Given the description of an element on the screen output the (x, y) to click on. 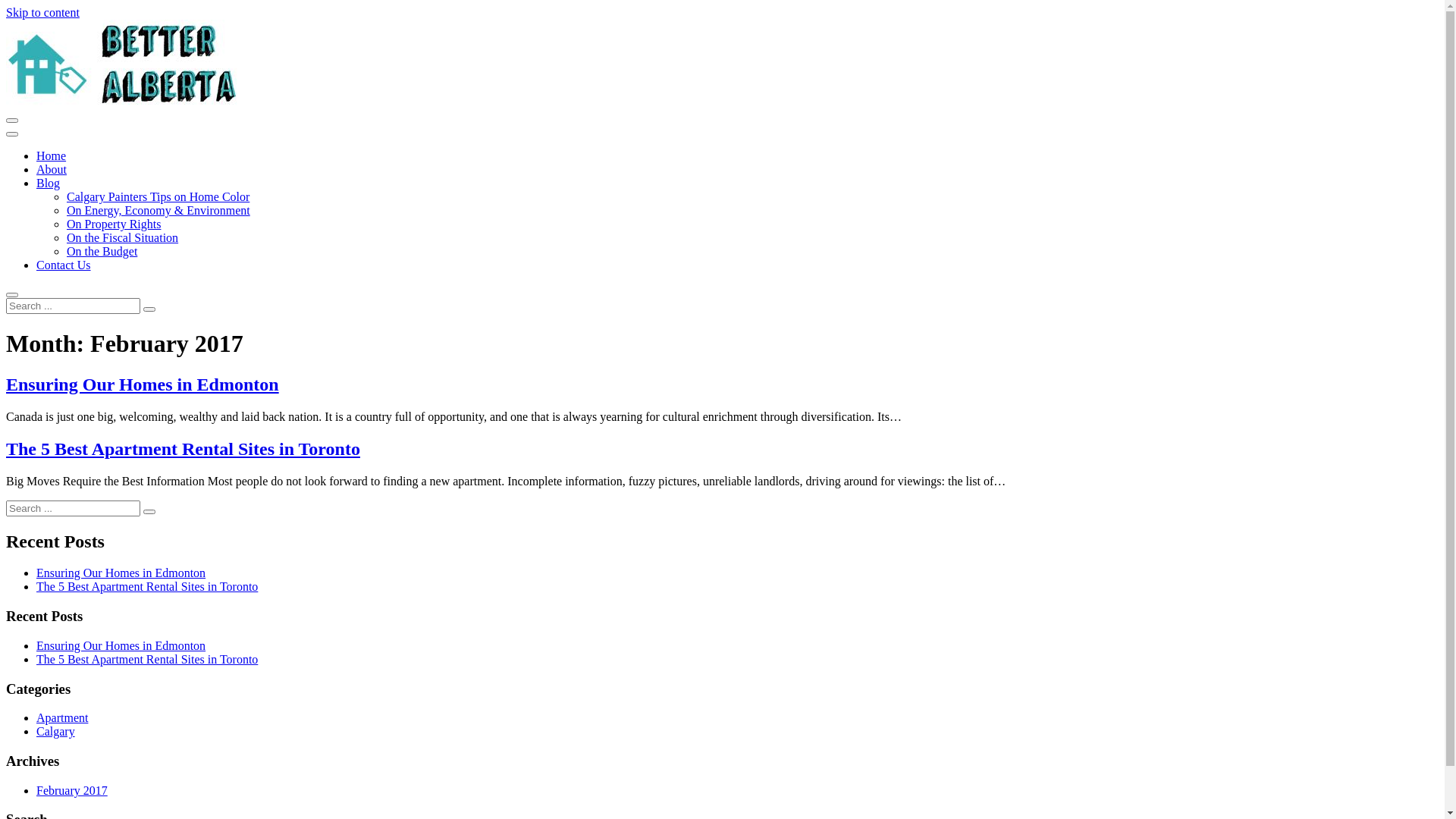
The 5 Best Apartment Rental Sites in Toronto Element type: text (146, 658)
On the Budget Element type: text (101, 250)
Home Element type: text (50, 155)
On Property Rights Element type: text (113, 223)
On Energy, Economy & Environment Element type: text (158, 209)
Ensuring Our Homes in Edmonton Element type: text (120, 572)
February 2017 Element type: text (71, 790)
About Element type: text (51, 169)
Blog Element type: text (47, 182)
Contact Us Element type: text (63, 264)
The 5 Best Apartment Rental Sites in Toronto Element type: text (146, 586)
The 5 Best Apartment Rental Sites in Toronto Element type: text (183, 448)
Calgary Element type: text (55, 730)
Apartment Element type: text (61, 717)
Ensuring Our Homes in Edmonton Element type: text (142, 384)
Calgary Painters Tips on Home Color Element type: text (157, 196)
Ensuring Our Homes in Edmonton Element type: text (120, 645)
Better Alberta Element type: text (61, 134)
On the Fiscal Situation Element type: text (122, 237)
Better Alberta Element type: hover (123, 102)
Skip to content Element type: text (42, 12)
